Given the description of an element on the screen output the (x, y) to click on. 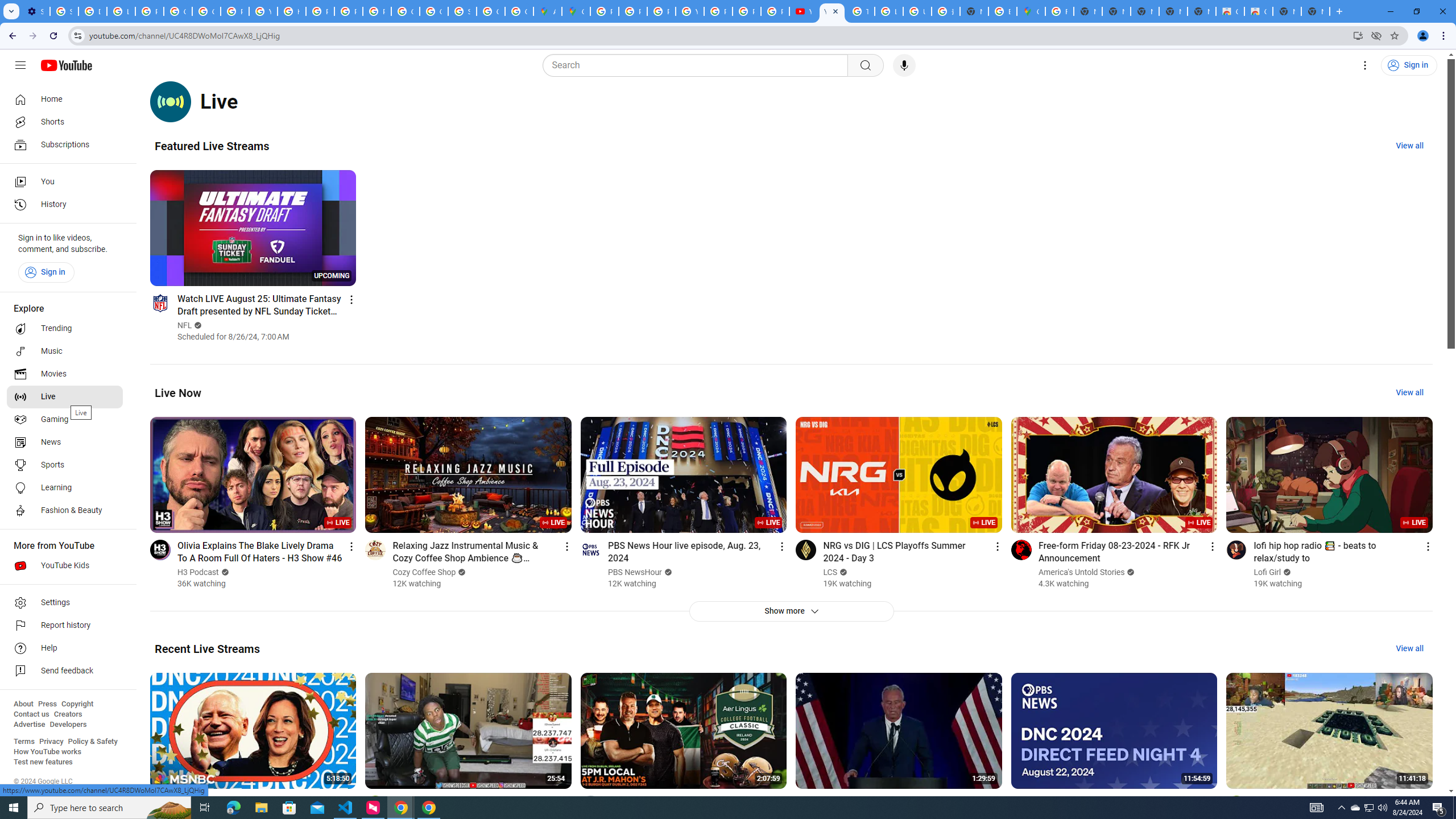
Privacy Help Center - Policies Help (632, 11)
PBS NewsHour (634, 572)
Policy Accountability and Transparency - Transparency Center (604, 11)
News (64, 441)
Press (46, 703)
Action menu (1427, 802)
YouTube (690, 11)
Send feedback (64, 671)
Featured Live Streams (211, 145)
Contact us (31, 714)
LCS (830, 572)
